Given the description of an element on the screen output the (x, y) to click on. 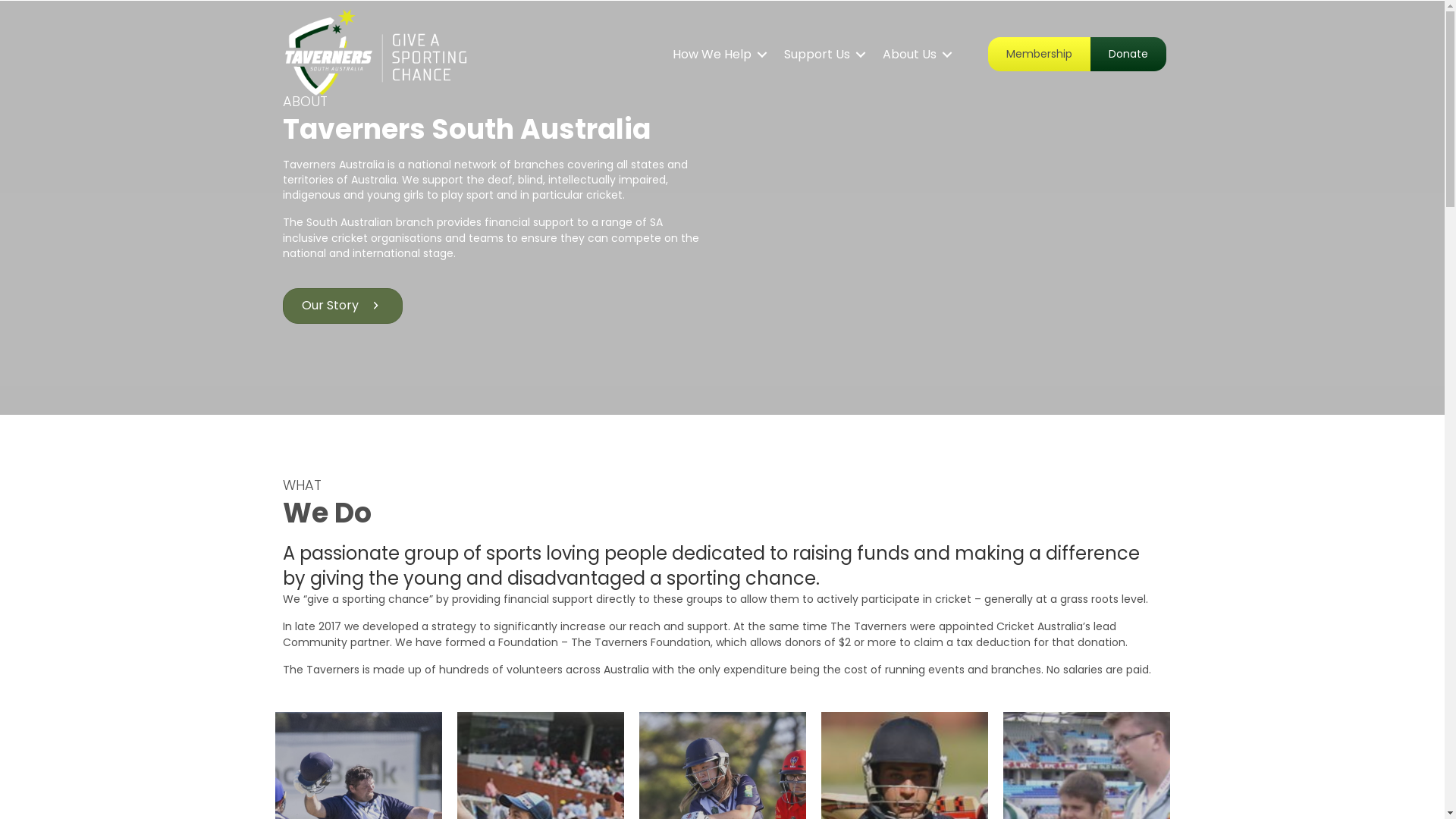
Our Story Element type: text (341, 305)
TAV010_Sporting Chance_SouthAustralia_crop Element type: hover (376, 53)
Support Us Element type: text (822, 54)
Lord's Taverners Australia - South Australia Element type: hover (926, 205)
Membership Element type: text (1039, 53)
How We Help Element type: text (717, 54)
Donate Element type: text (1128, 53)
About Us Element type: text (914, 54)
